Given the description of an element on the screen output the (x, y) to click on. 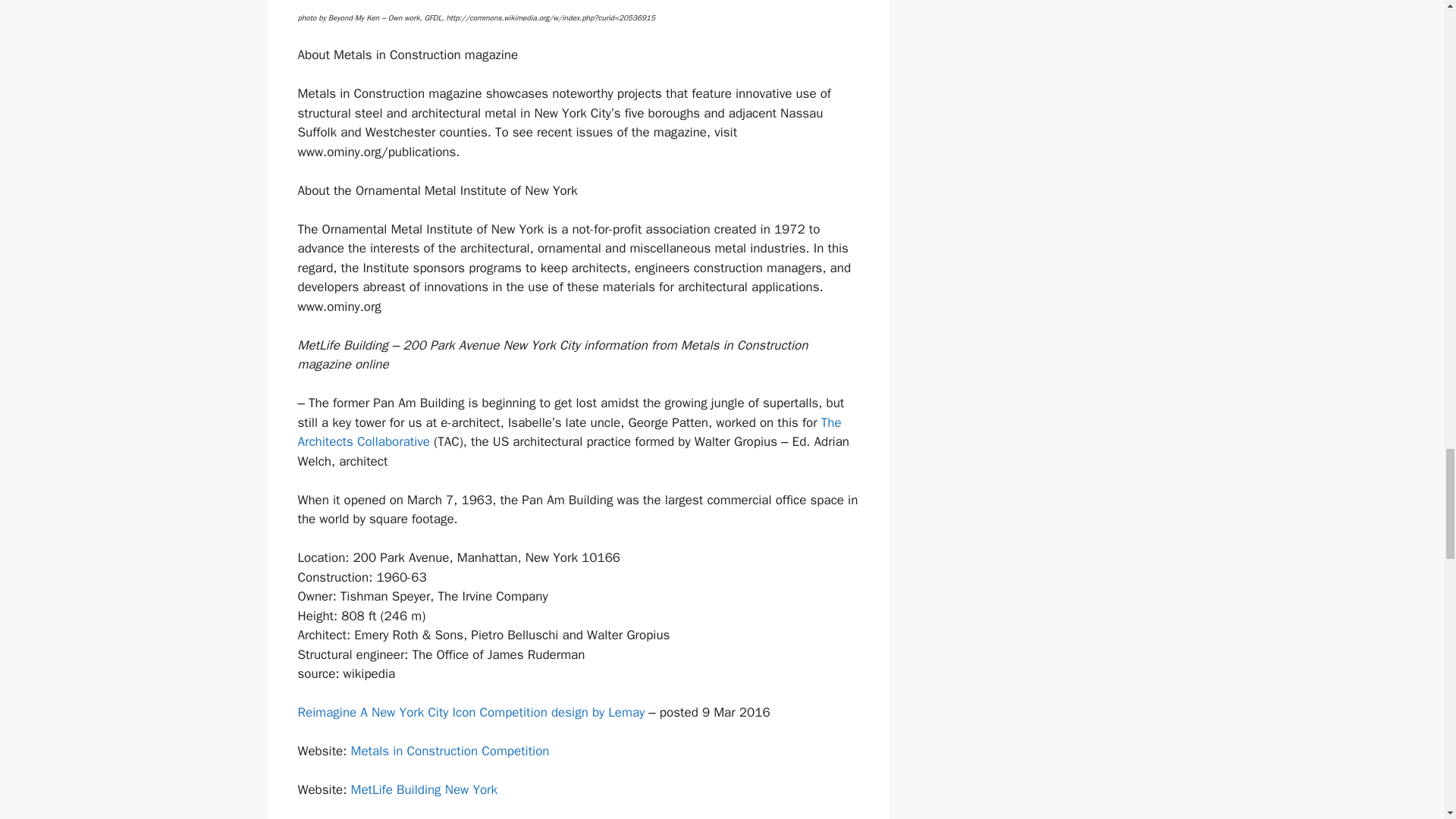
MetLife Building New York (423, 789)
The Architects Collaborative (569, 432)
Reimagine A New York City Icon Competition design by Lemay (471, 712)
Metals in Construction Competition (449, 750)
